Given the description of an element on the screen output the (x, y) to click on. 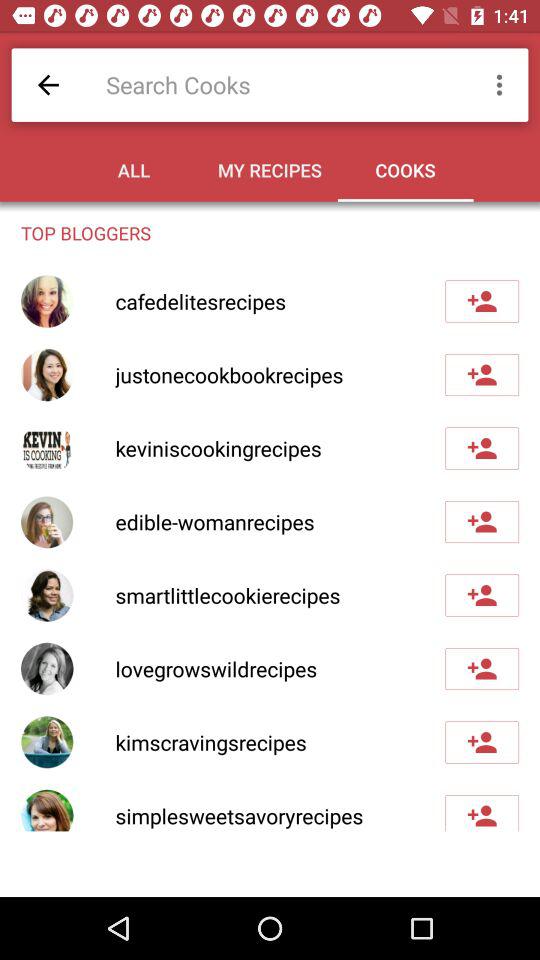
search (280, 84)
